Given the description of an element on the screen output the (x, y) to click on. 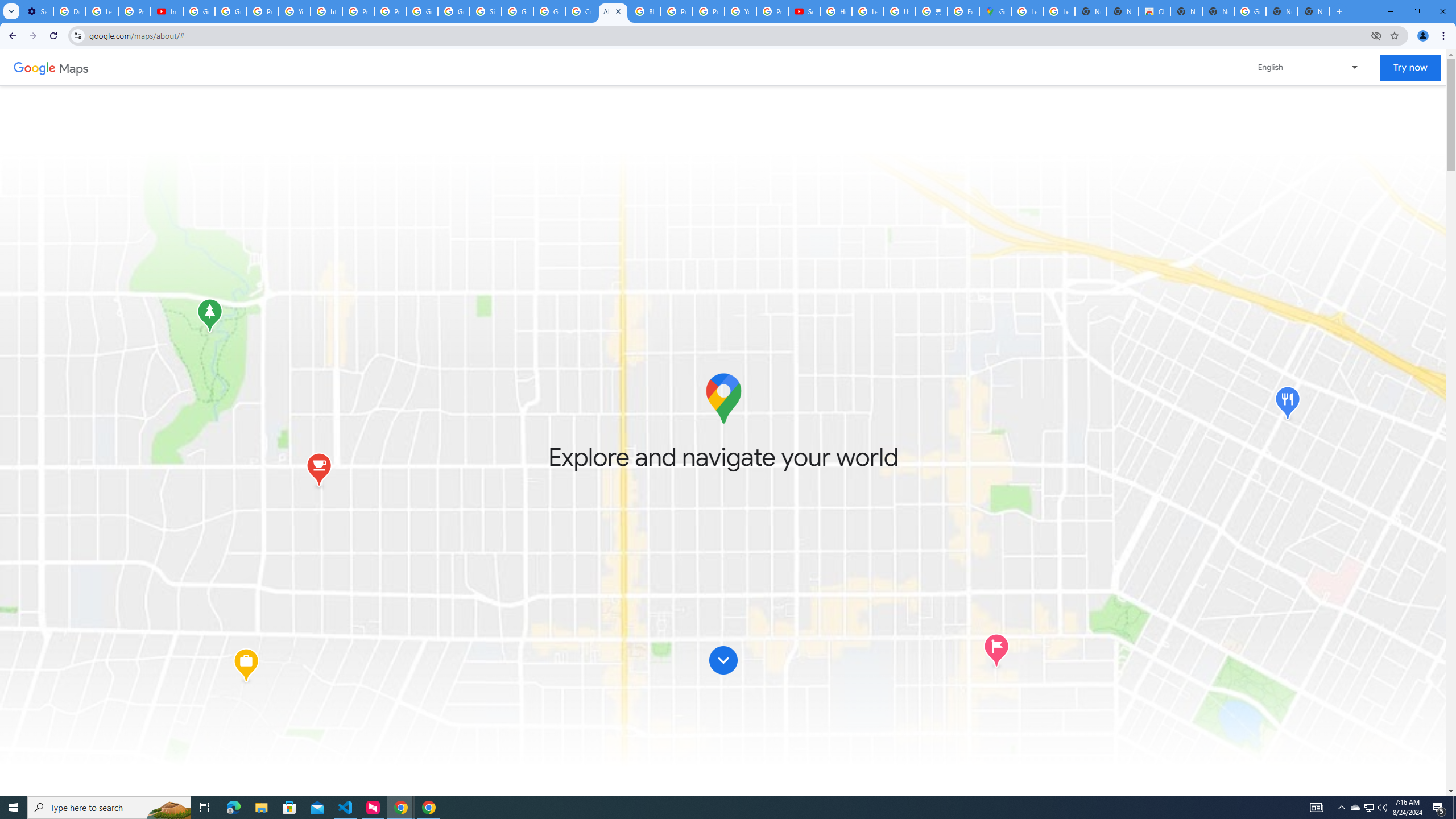
Chrome Web Store (1154, 11)
Create your Google Account (581, 11)
Subscriptions - YouTube (804, 11)
Blogger Policies and Guidelines - Transparency Center (644, 11)
Privacy Help Center - Policies Help (358, 11)
